Given the description of an element on the screen output the (x, y) to click on. 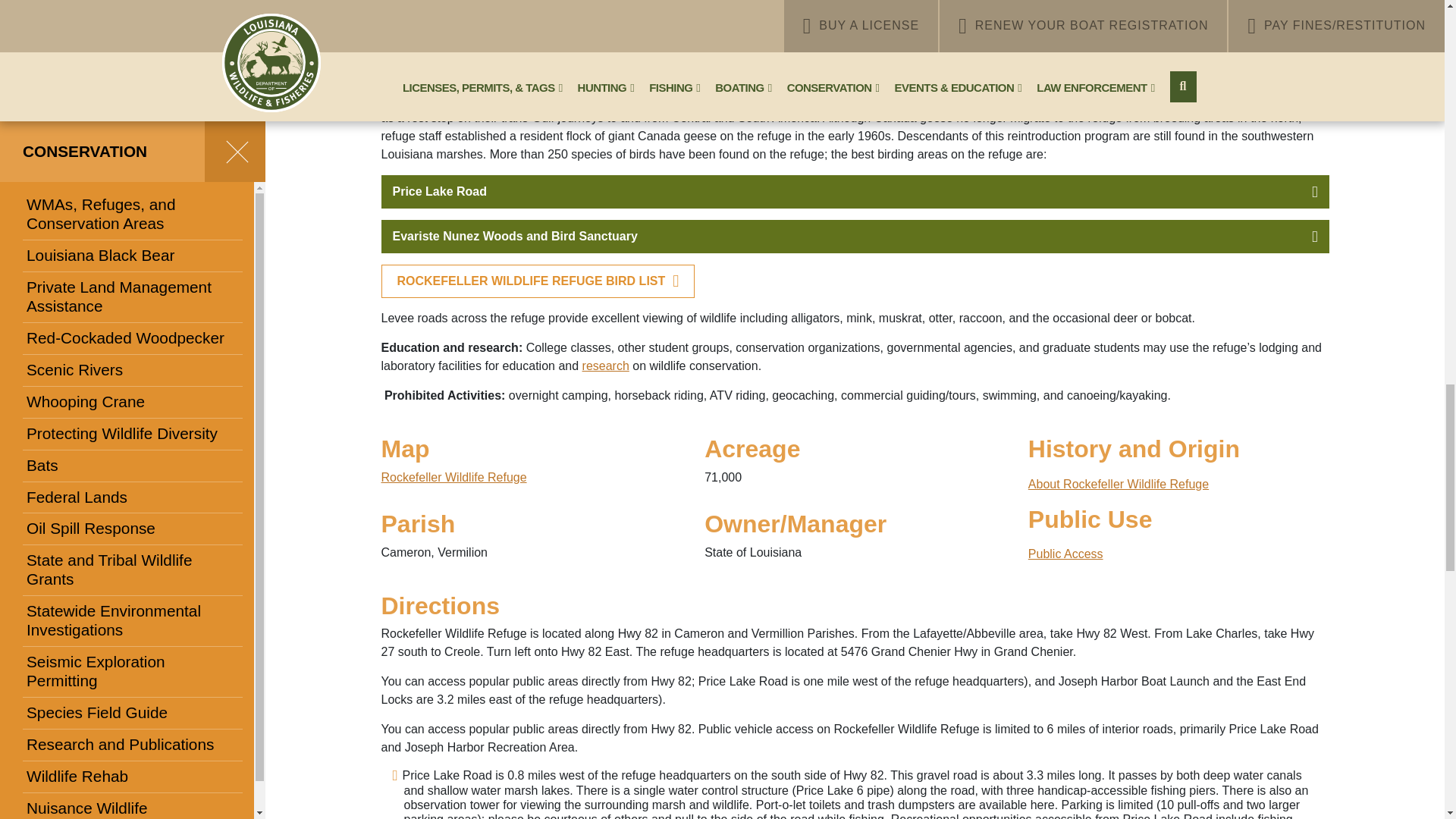
LICENSES AND PERMITS (476, 25)
Rockefeller Wildlife Refuge Bird List (537, 281)
public access on Rockefeller Refuge (1065, 553)
Rockefeller Research (605, 365)
SEASONS AND REGULATIONS (709, 25)
History and origin of Rockefeller Wildlife Refuge (1117, 483)
Rockefeller Wildlife Refuge map (452, 477)
